Given the description of an element on the screen output the (x, y) to click on. 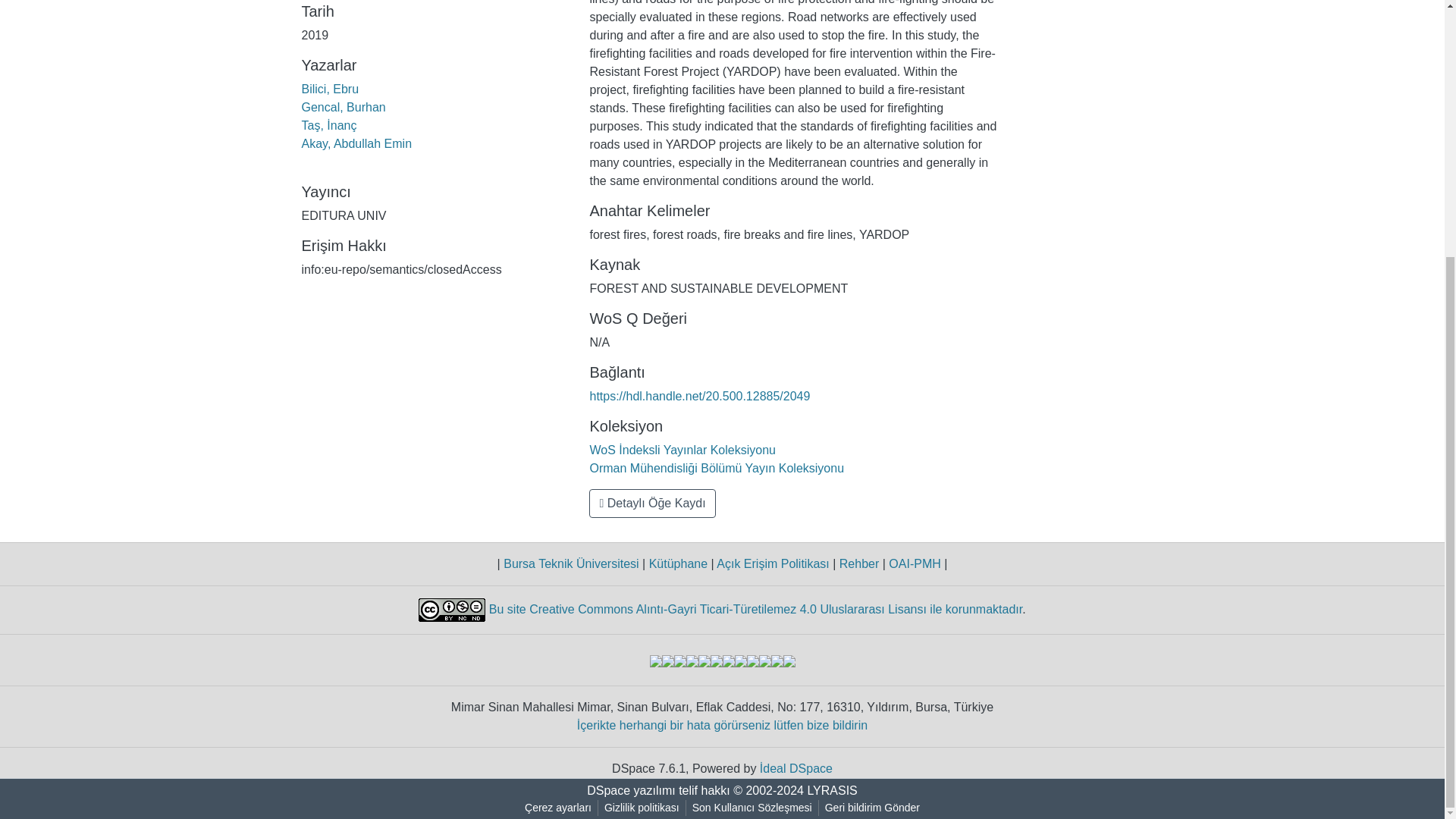
Gencal, Burhan (343, 106)
Rehber (858, 563)
Akay, Abdullah Emin (356, 143)
OAI-PMH (914, 563)
Bilici, Ebru (330, 88)
